Given the description of an element on the screen output the (x, y) to click on. 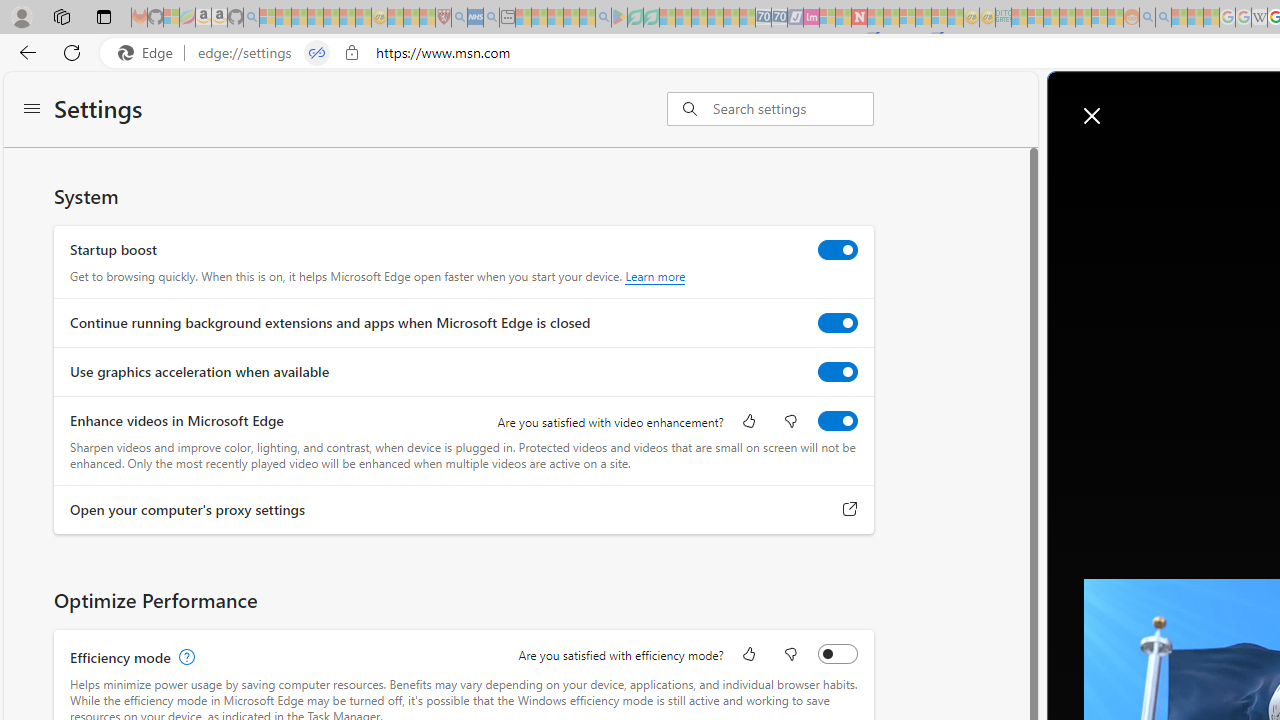
Settings menu (31, 110)
Open navigation menu (1133, 162)
Bluey: Let's Play! - Apps on Google Play - Sleeping (619, 17)
MSNBC - MSN - Sleeping (1019, 17)
Tabs in split screen (317, 53)
Enhance videos in Microsoft Edge (837, 421)
